Given the description of an element on the screen output the (x, y) to click on. 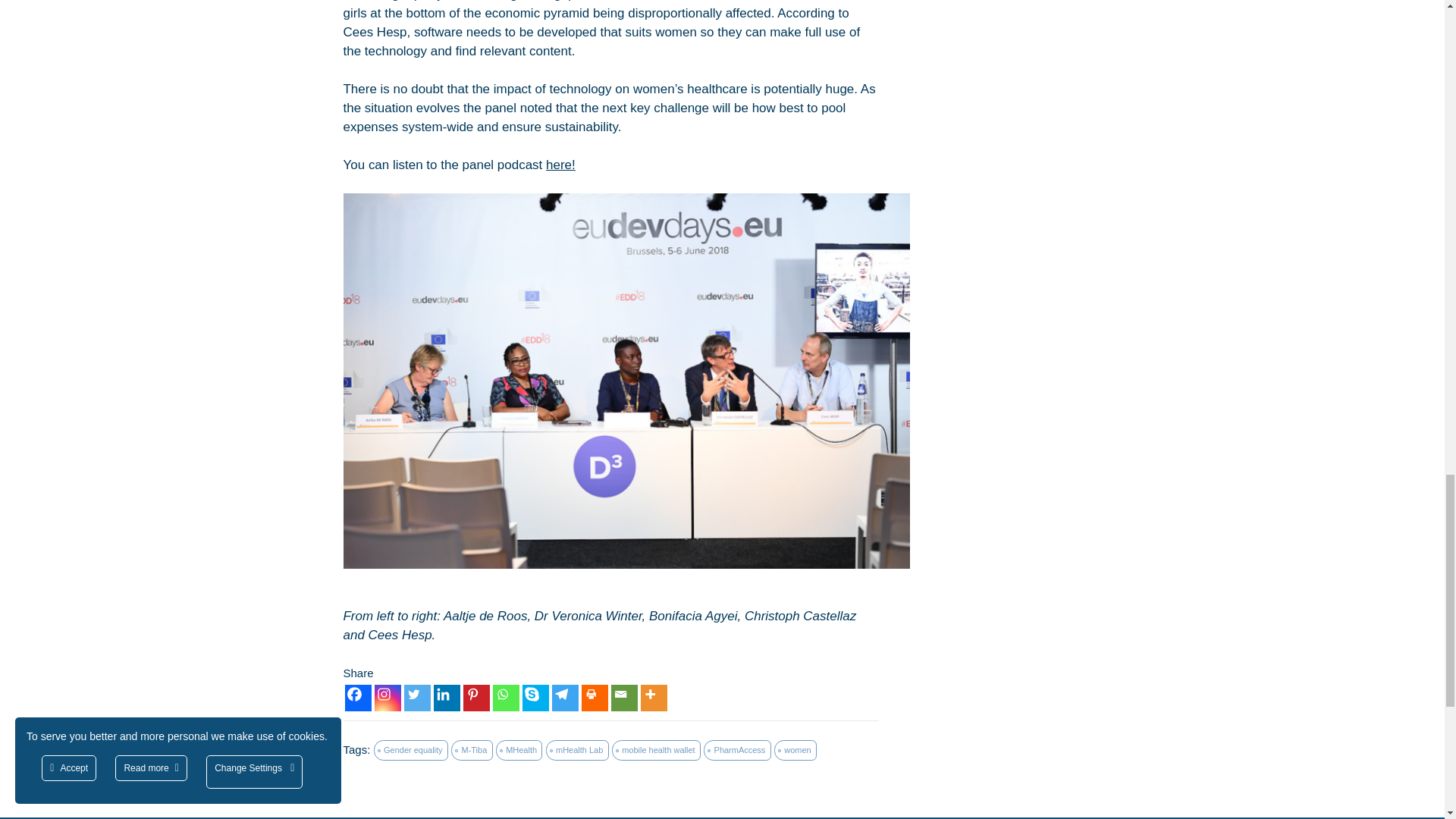
Telegram (564, 697)
Linkedin (446, 697)
Print (593, 697)
More (653, 697)
Twitter (416, 697)
Facebook (357, 697)
here! (560, 164)
Whatsapp (506, 697)
Pinterest (476, 697)
Instagram (387, 697)
Skype (534, 697)
Email (624, 697)
